Given the description of an element on the screen output the (x, y) to click on. 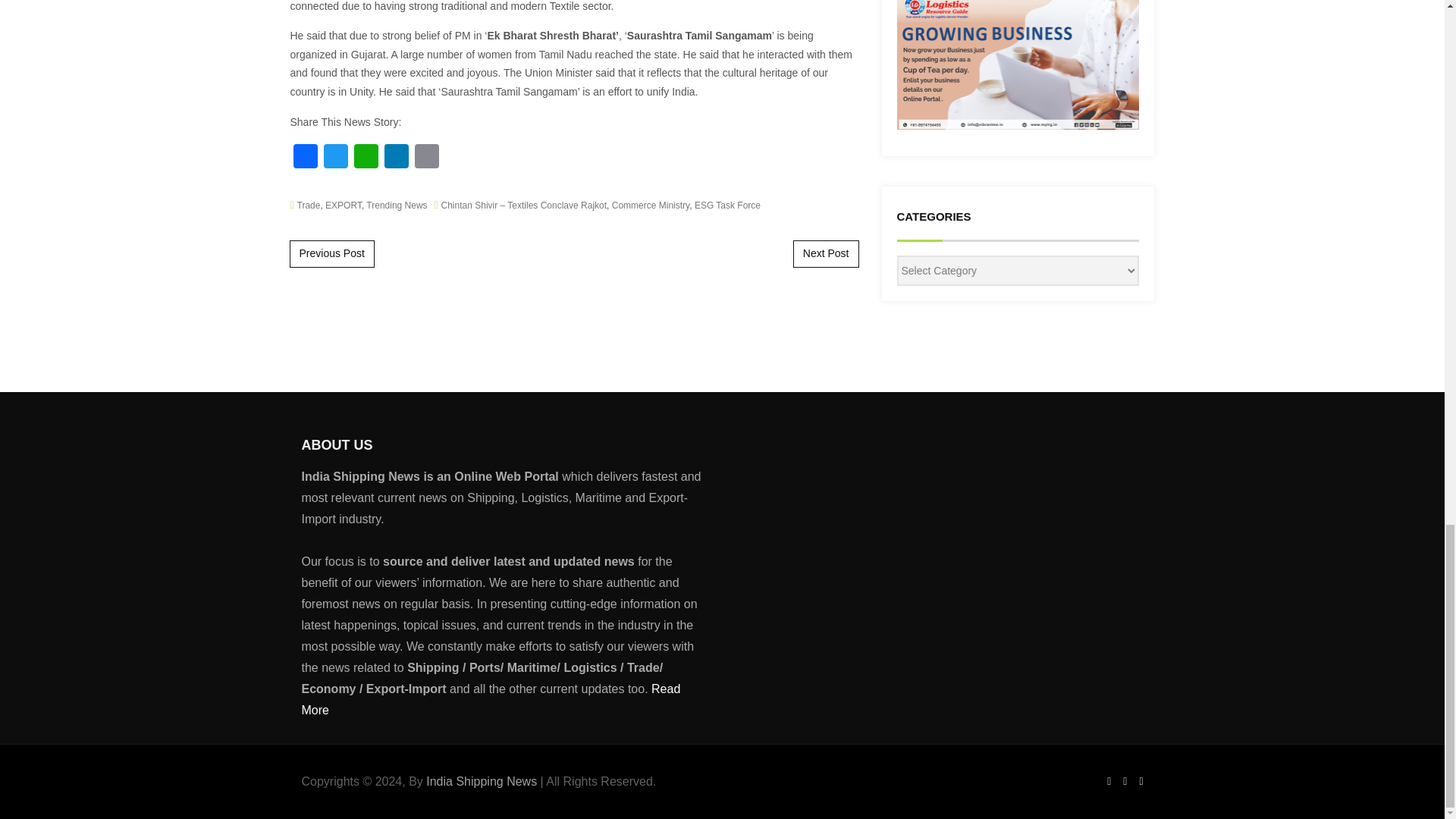
LinkedIn (395, 157)
Twitter (335, 157)
Facebook (304, 157)
Email (425, 157)
WhatsApp (365, 157)
